Given the description of an element on the screen output the (x, y) to click on. 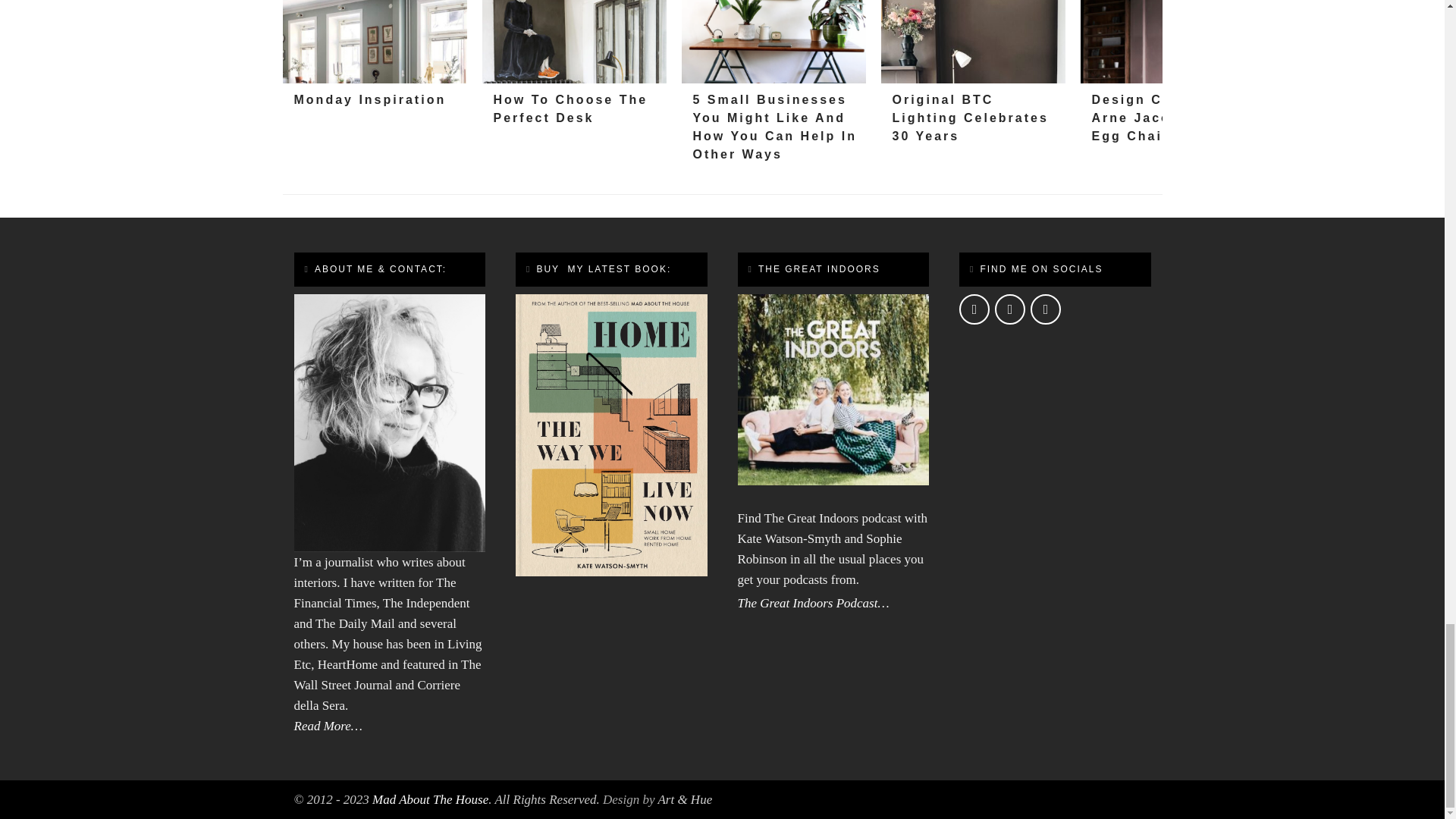
Monday Inspiration (373, 42)
